Given the description of an element on the screen output the (x, y) to click on. 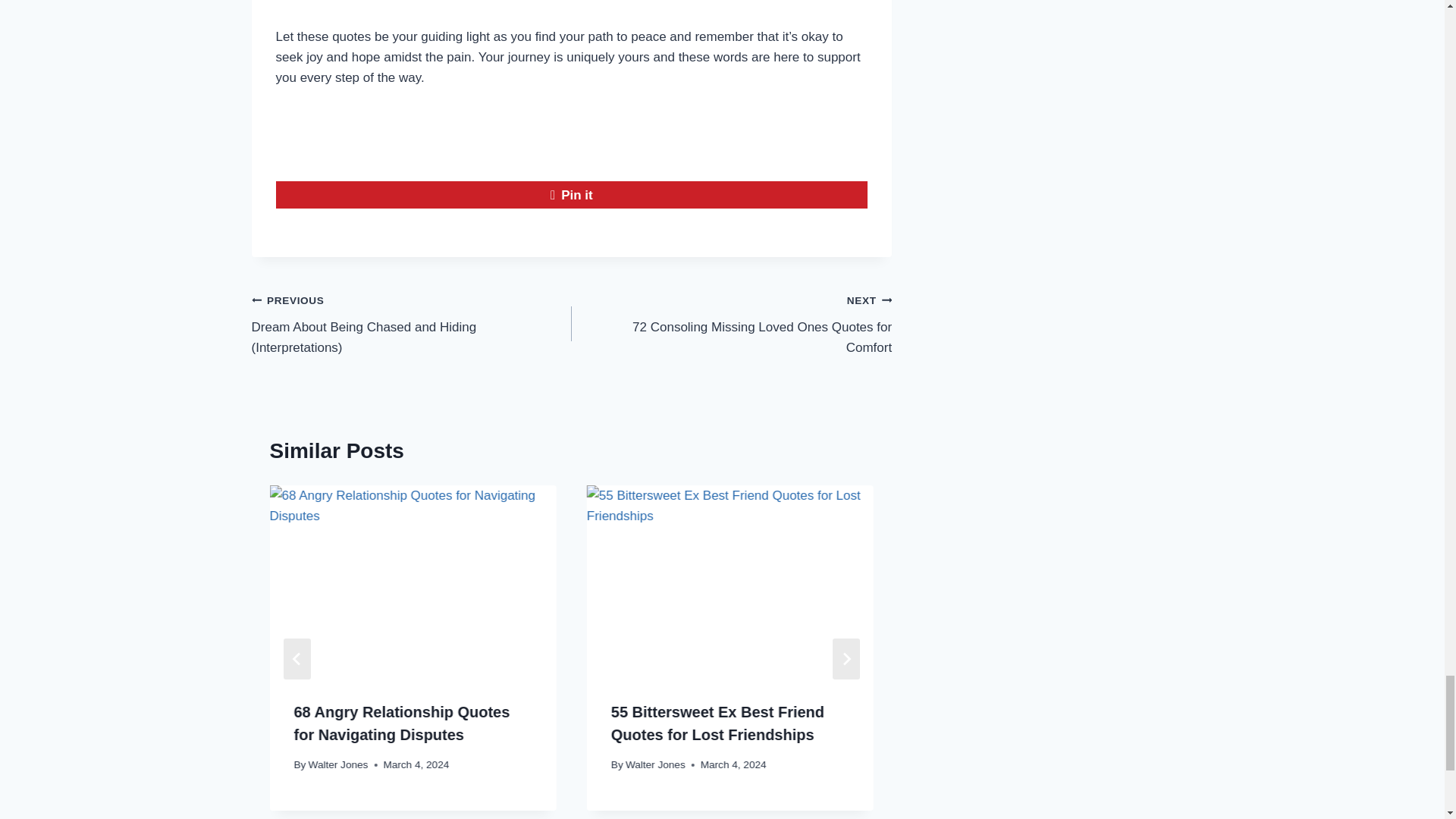
Pin it (731, 323)
